Given the description of an element on the screen output the (x, y) to click on. 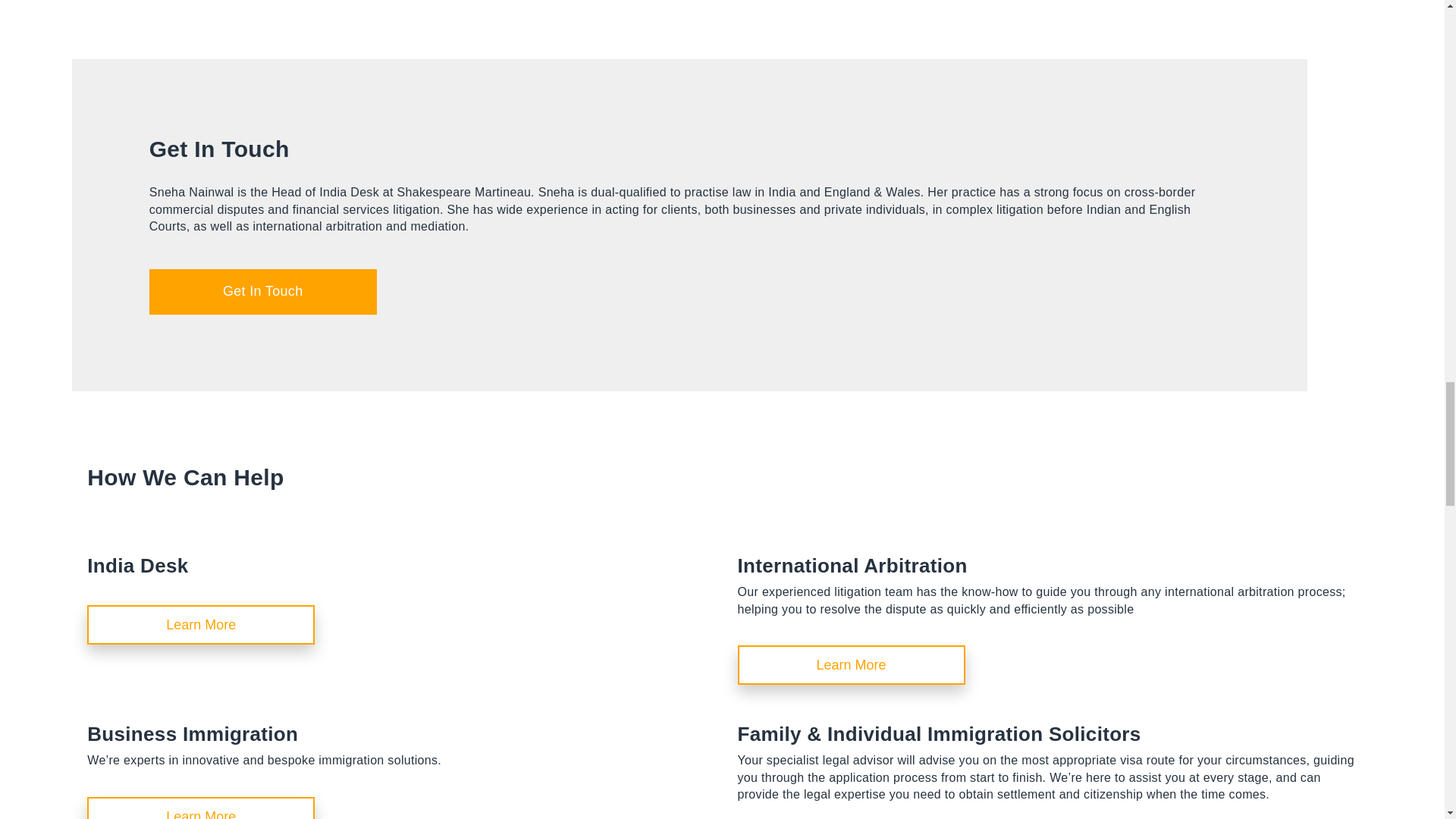
Read more about India Desk (849, 664)
